Given the description of an element on the screen output the (x, y) to click on. 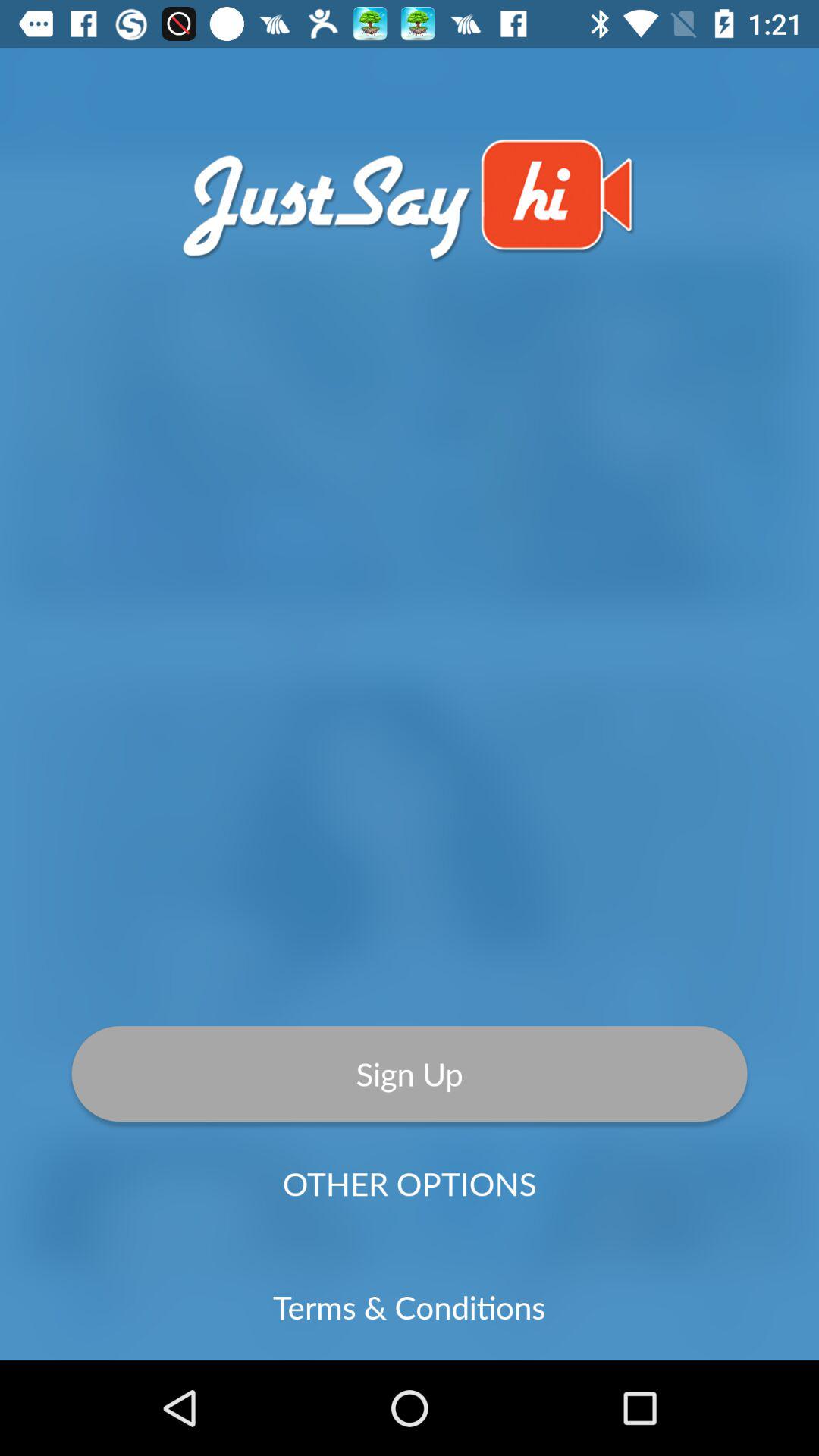
turn off the terms & conditions item (409, 1306)
